Given the description of an element on the screen output the (x, y) to click on. 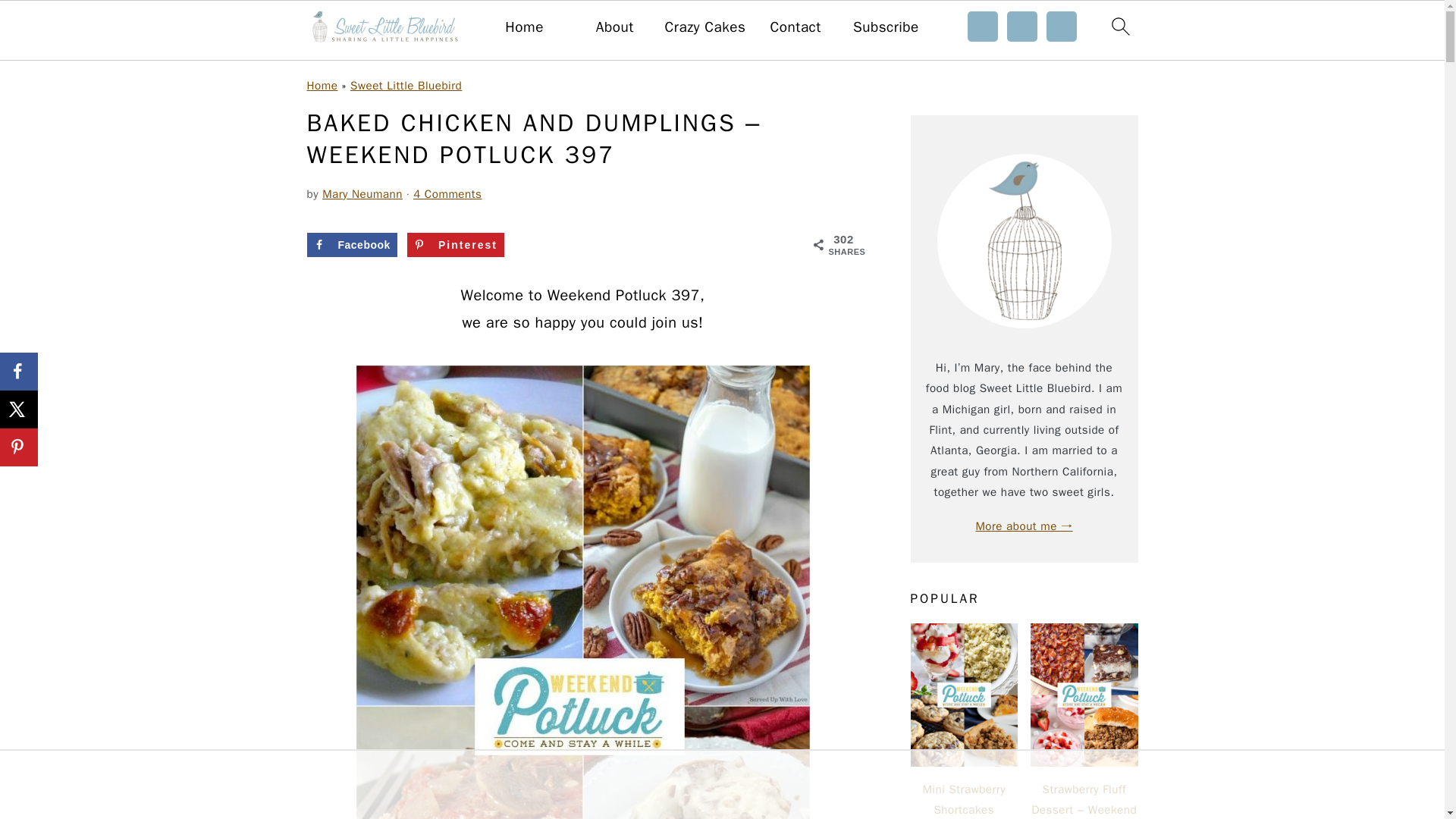
4 Comments (447, 193)
About (614, 27)
Contact (795, 27)
Facebook (350, 244)
Subscribe (885, 27)
Sweet Little Bluebird (405, 85)
Share on Facebook (350, 244)
Home (321, 85)
Pinterest (455, 244)
Crazy Cakes (705, 27)
Save to Pinterest (455, 244)
search icon (1119, 26)
Home (524, 27)
Mary Neumann (362, 193)
